Given the description of an element on the screen output the (x, y) to click on. 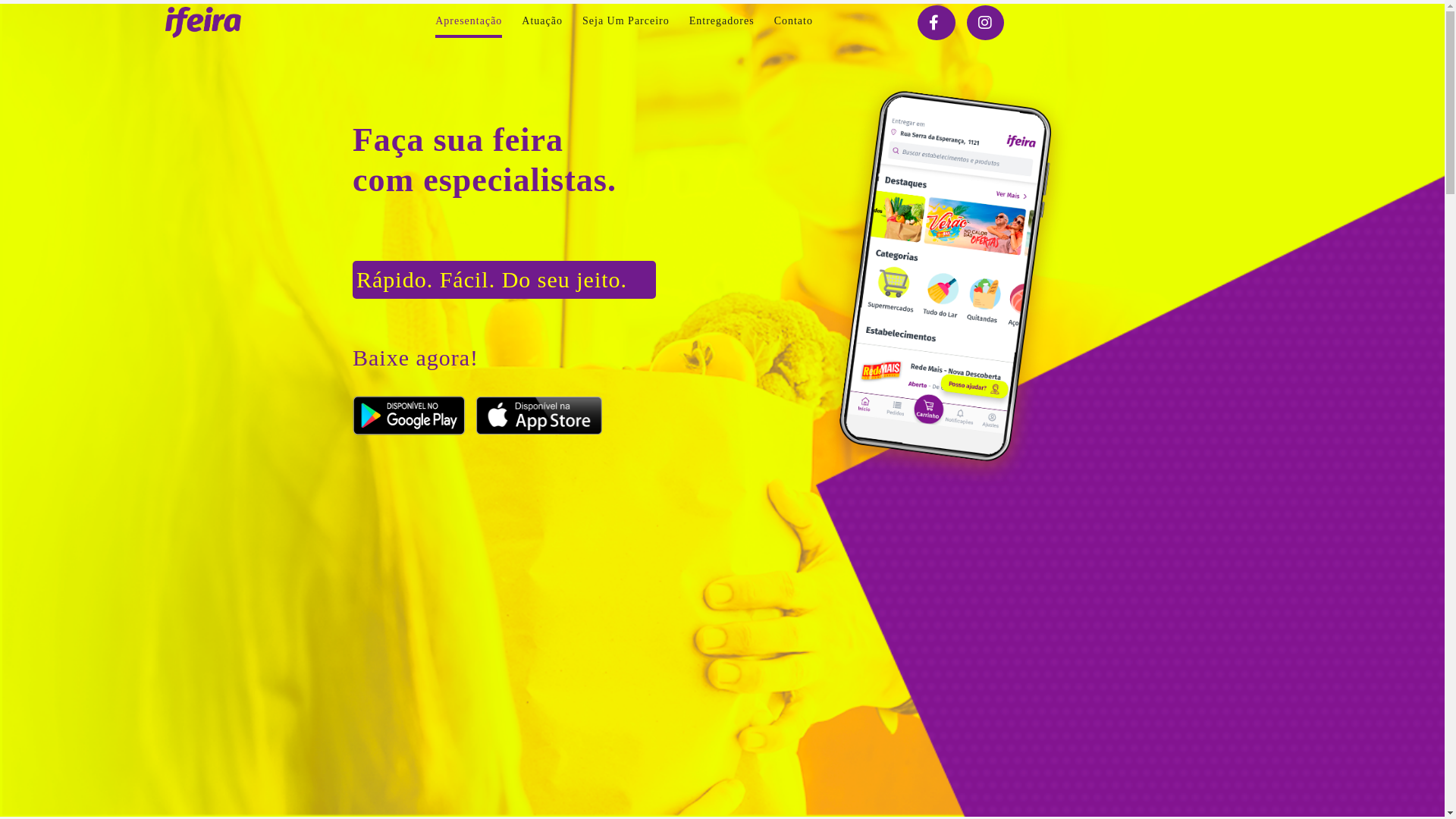
Contato Element type: text (793, 20)
Seja Um Parceiro Element type: text (625, 20)
Entregadores Element type: text (721, 20)
